Given the description of an element on the screen output the (x, y) to click on. 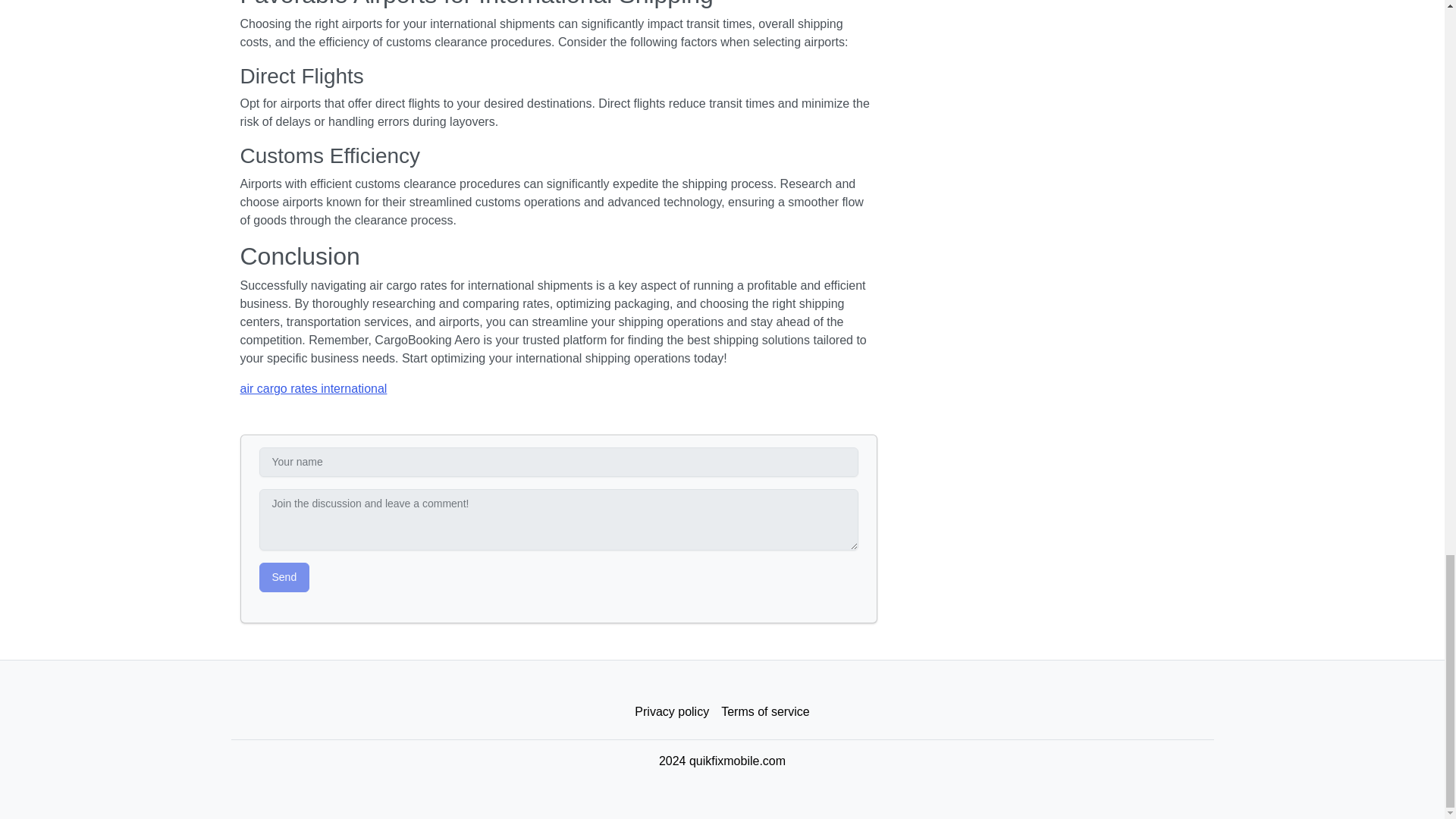
Privacy policy (671, 711)
Terms of service (764, 711)
Send (284, 577)
air cargo rates international (313, 388)
Send (284, 577)
